Given the description of an element on the screen output the (x, y) to click on. 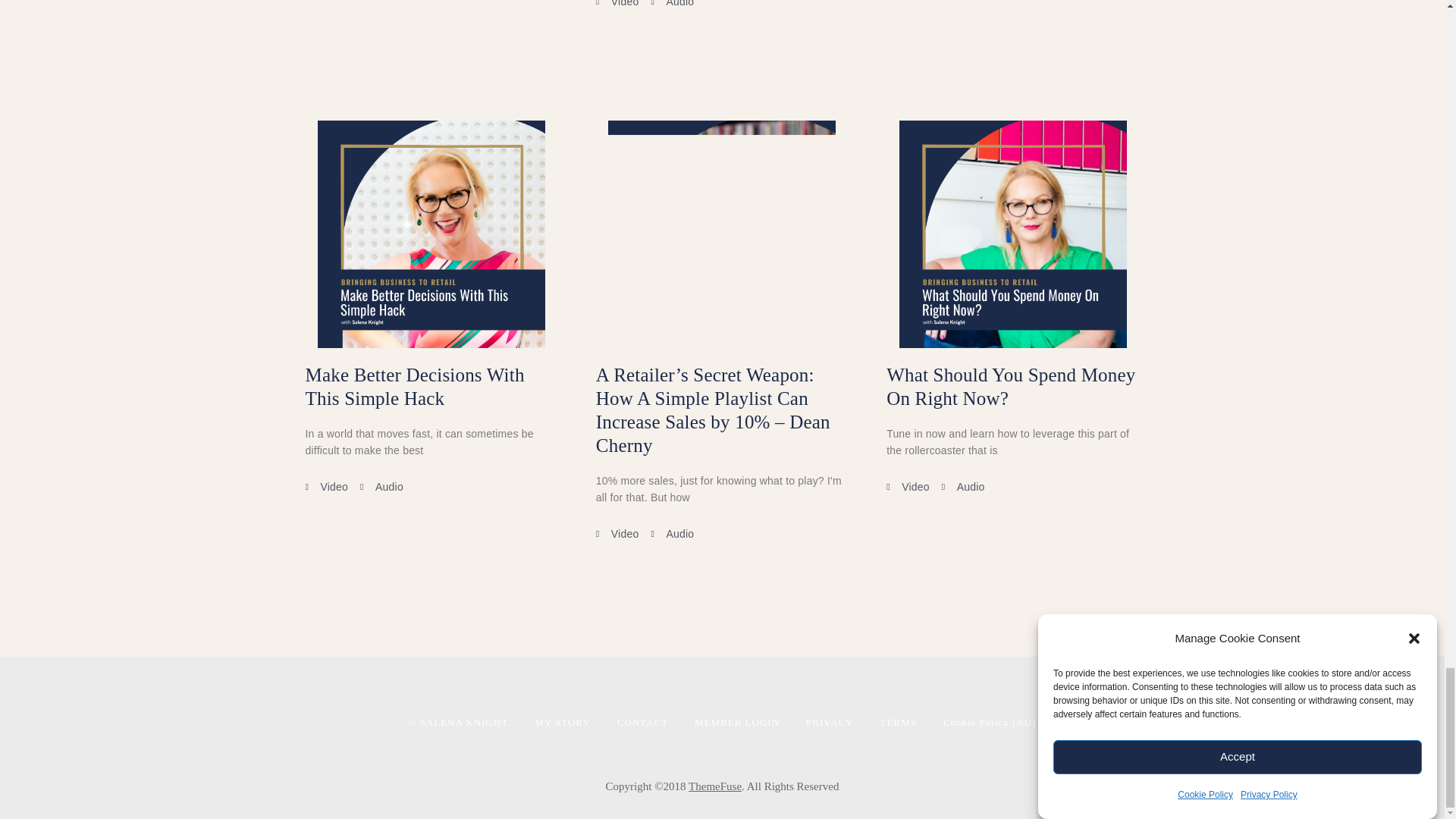
Audio (381, 486)
Video (617, 7)
Audio (672, 7)
Make Better Decisions With This Simple Hack (414, 386)
Video (325, 486)
